Given the description of an element on the screen output the (x, y) to click on. 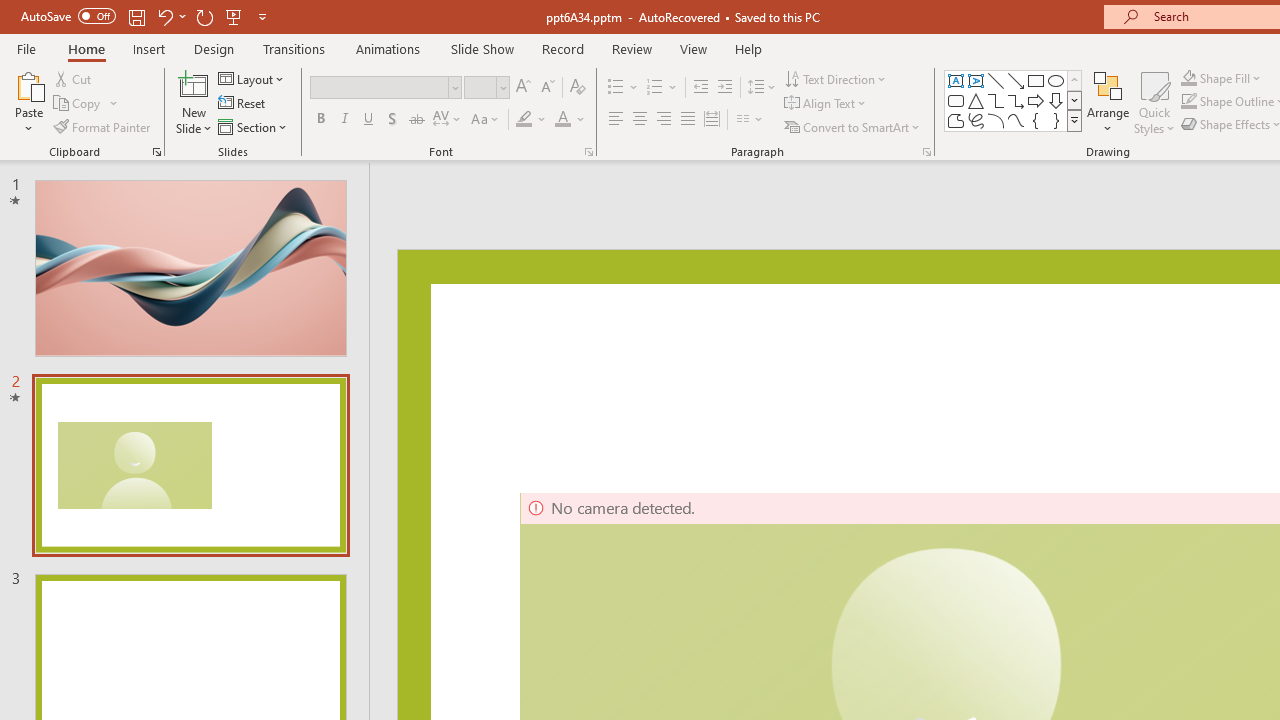
AutoSave (68, 16)
Insert (149, 48)
New Slide (193, 102)
New Slide (193, 84)
Left Brace (1035, 120)
Text Highlight Color (531, 119)
Arc (995, 120)
Numbering (661, 87)
Arrow: Down (1055, 100)
Font Size (486, 87)
Align Text (826, 103)
Customize Quick Access Toolbar (262, 15)
Redo (204, 15)
